Given the description of an element on the screen output the (x, y) to click on. 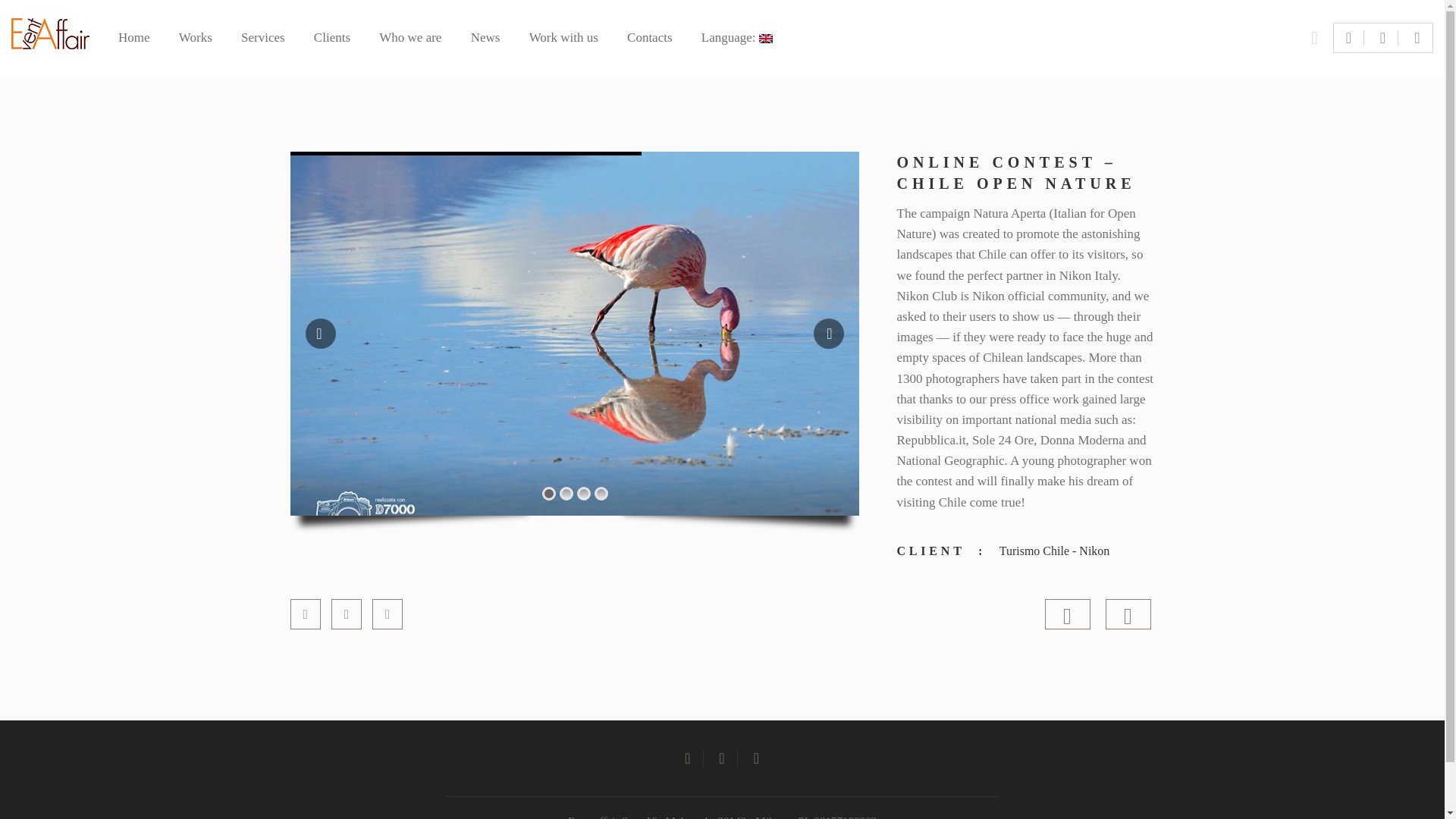
Language:  (737, 39)
Clients (332, 39)
Works (195, 39)
Services (263, 39)
Who we are (409, 39)
English (737, 39)
Contacts (649, 39)
Work with us (563, 39)
News (485, 39)
Home (133, 39)
